Given the description of an element on the screen output the (x, y) to click on. 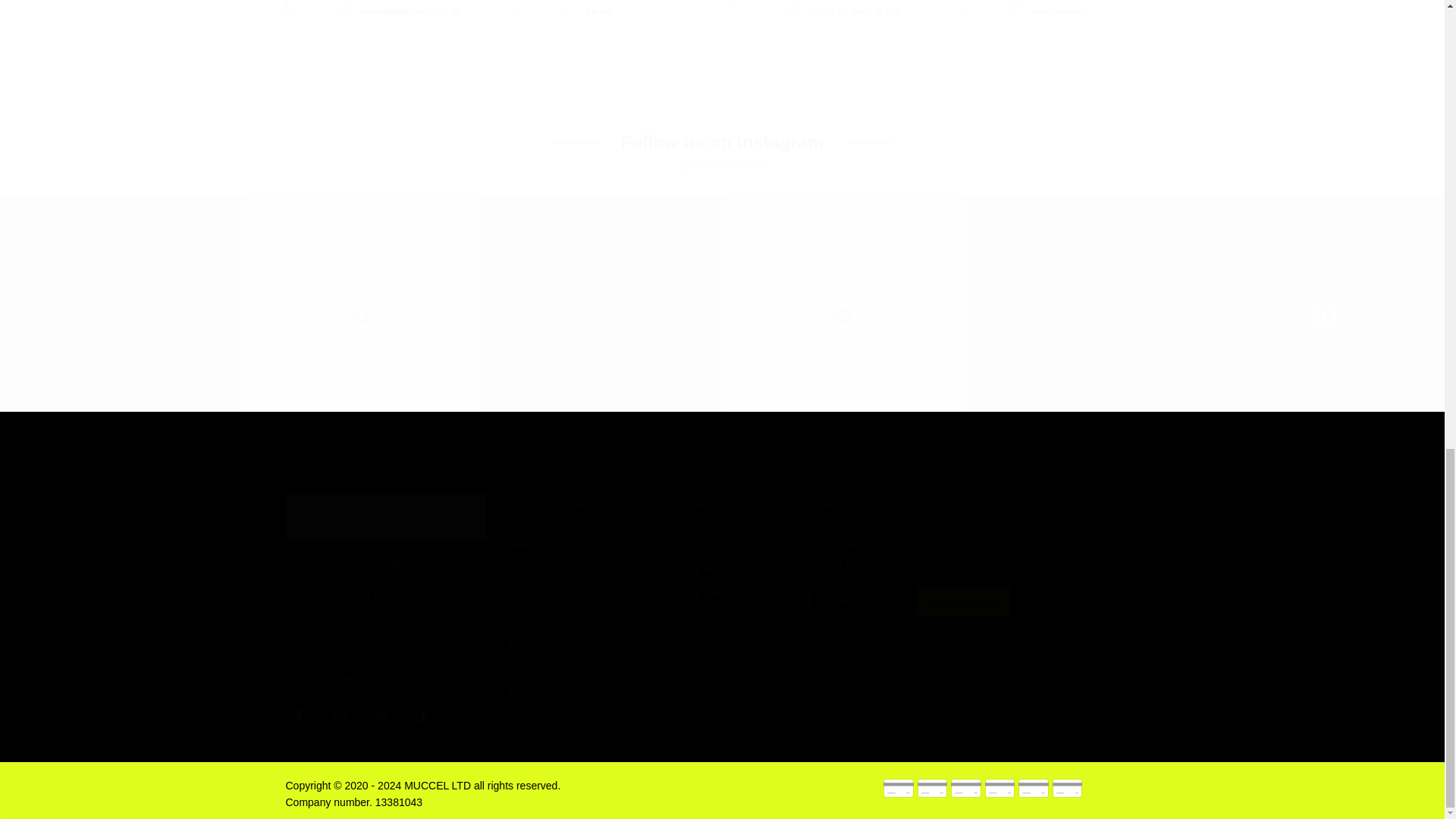
Follow on Facebook (298, 716)
Follow on Instagram (339, 716)
Follow on Pinterest (379, 716)
Follow on Tiktok (420, 716)
